Given the description of an element on the screen output the (x, y) to click on. 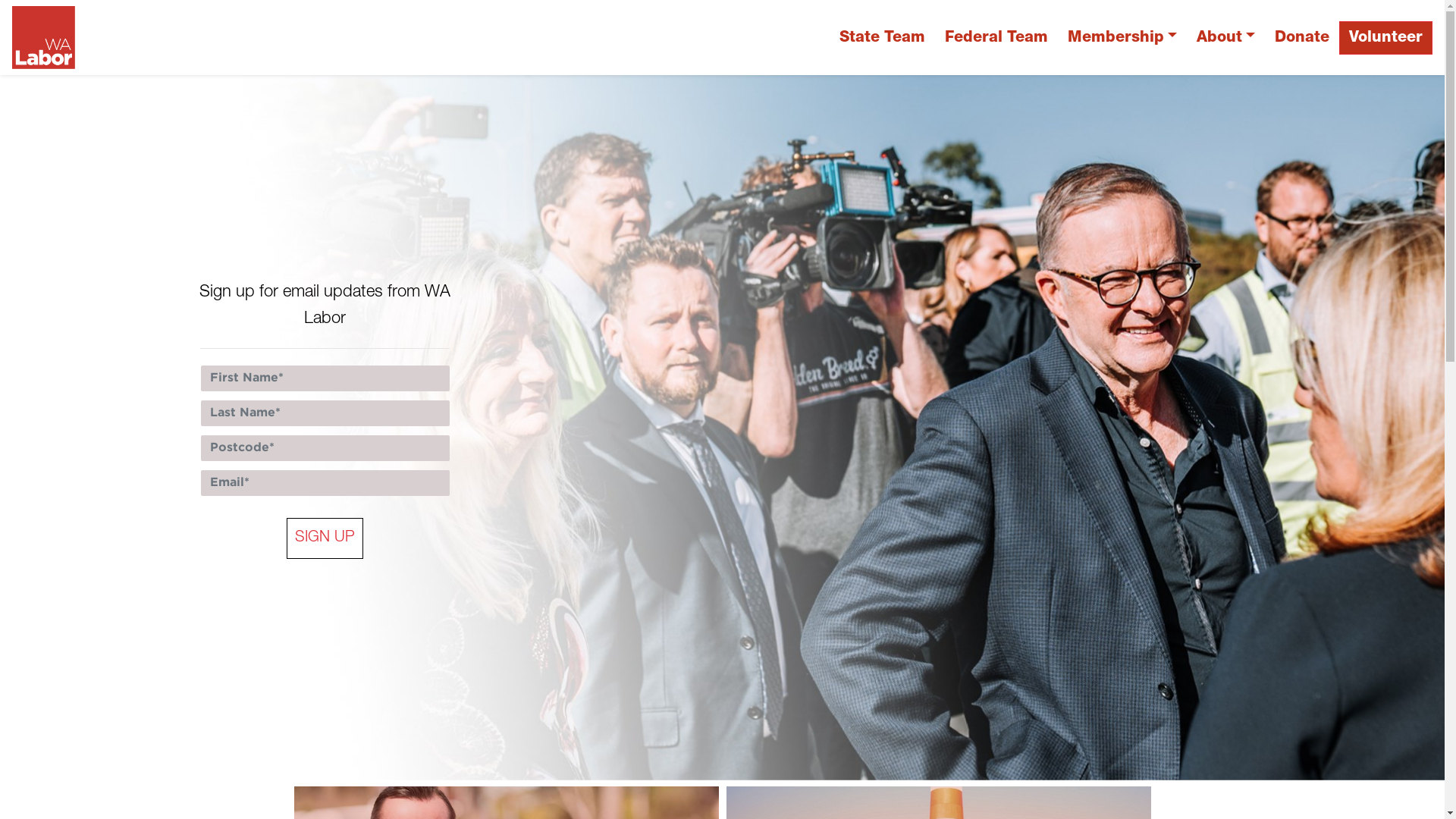
SIGN UP Element type: text (324, 537)
Volunteer Element type: text (1385, 37)
Membership Element type: text (1121, 37)
Next Element type: text (1335, 427)
About Element type: text (1225, 37)
Previous Element type: text (108, 427)
Federal Team Element type: text (996, 37)
Donate Element type: text (1301, 37)
State Team Element type: text (882, 37)
